Given the description of an element on the screen output the (x, y) to click on. 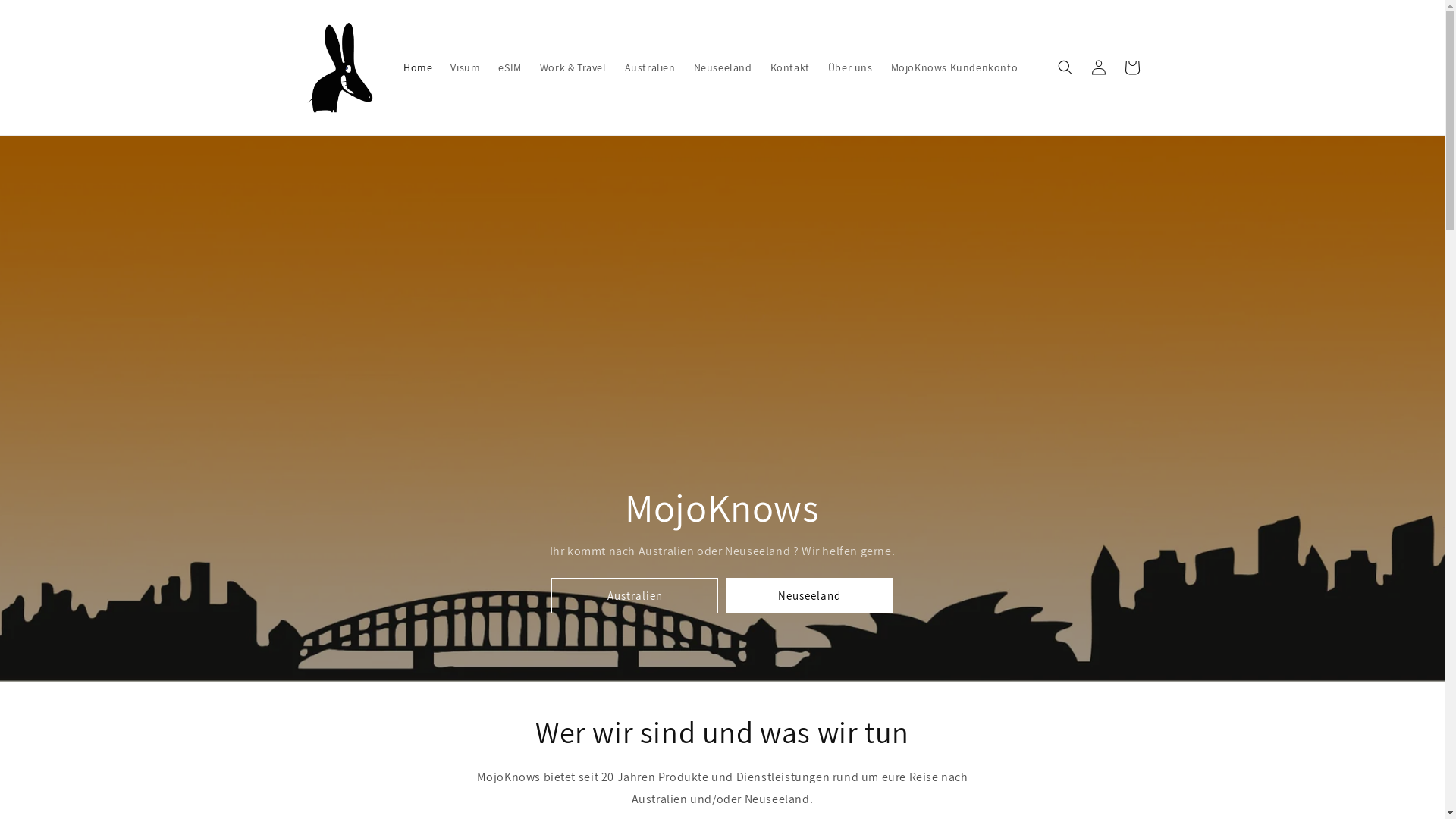
Visum Element type: text (465, 67)
MojoKnows Kundenkonto Element type: text (954, 67)
Einloggen Element type: text (1097, 67)
Neuseeland Element type: text (808, 595)
Home Element type: text (417, 67)
Australien Element type: text (649, 67)
Kontakt Element type: text (790, 67)
eSIM Element type: text (509, 67)
Neuseeland Element type: text (722, 67)
Warenkorb Element type: text (1131, 67)
Australien Element type: text (634, 595)
Work & Travel Element type: text (572, 67)
